Given the description of an element on the screen output the (x, y) to click on. 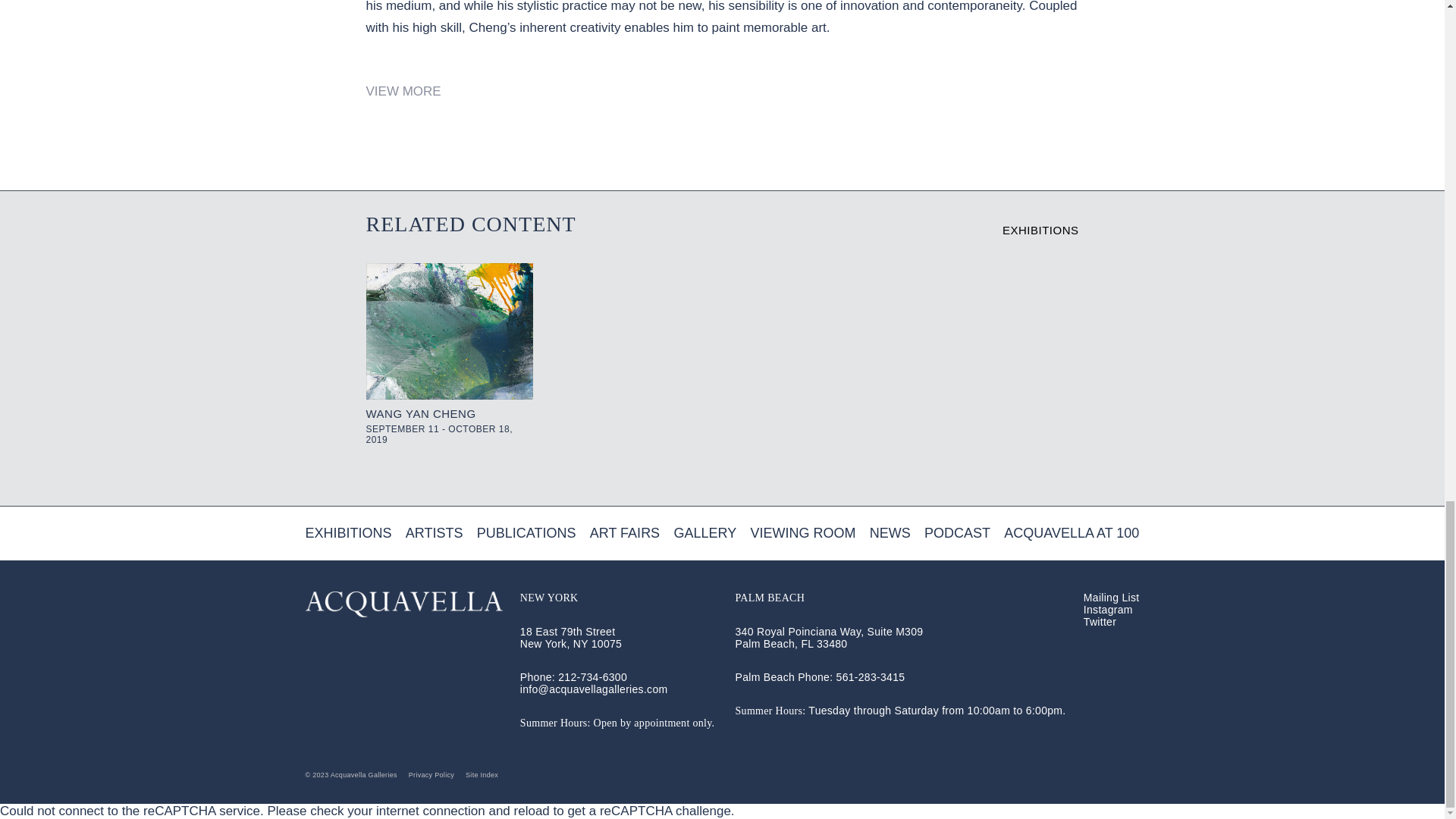
ART FAIRS (624, 533)
PODCAST (957, 533)
Instagram (1107, 609)
PUBLICATIONS (526, 533)
Privacy Policy (431, 774)
NEWS (890, 533)
ARTISTS (434, 533)
Twitter (1099, 621)
Mailing List (1111, 597)
ACQUAVELLA AT 100 (1071, 533)
VIEWING ROOM (802, 533)
EXHIBITIONS (347, 533)
GALLERY (704, 533)
EXHIBITIONS (448, 353)
